Given the description of an element on the screen output the (x, y) to click on. 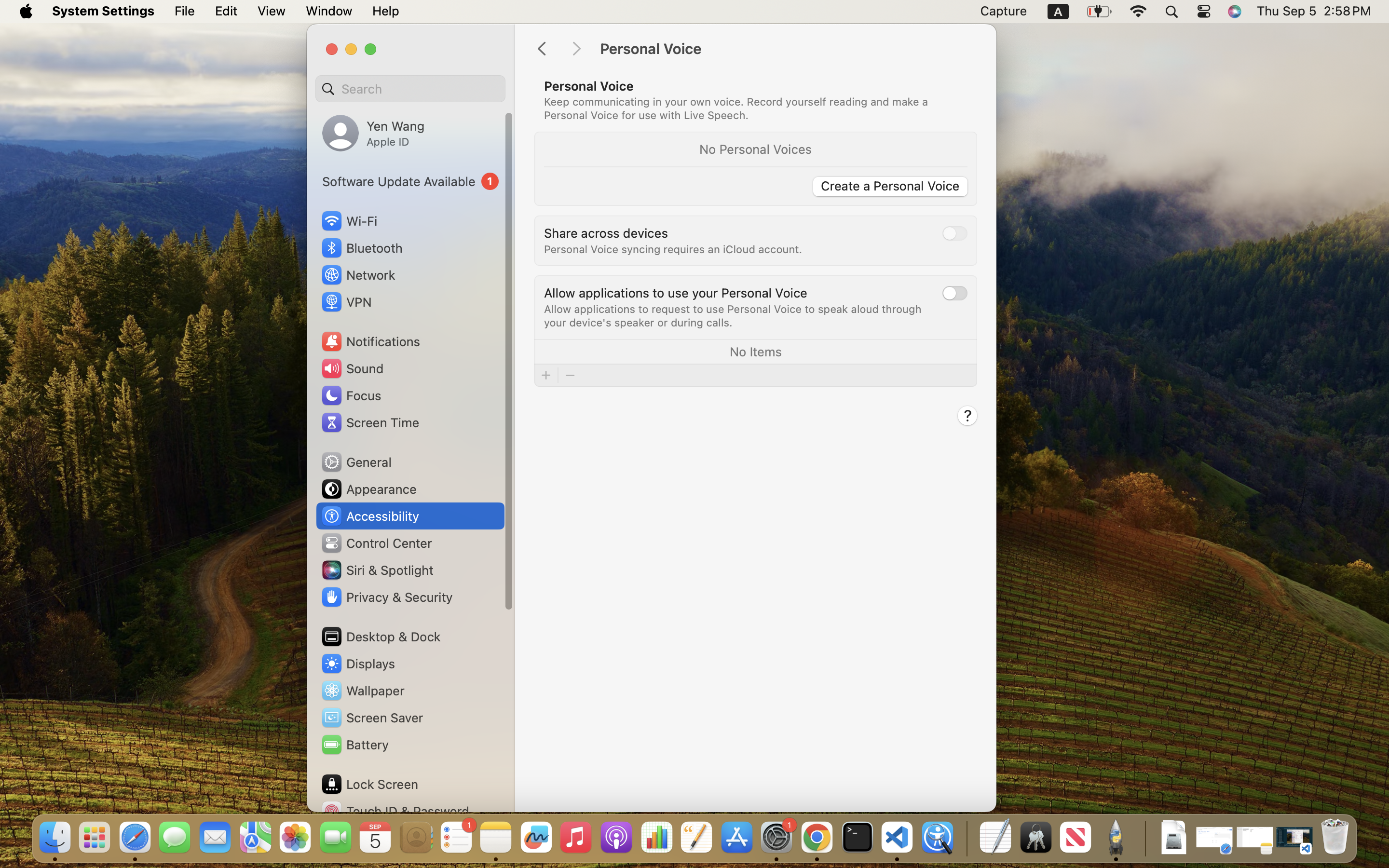
0.4285714328289032 Element type: AXDockItem (965, 837)
Desktop & Dock Element type: AXStaticText (380, 636)
Sound Element type: AXStaticText (351, 367)
Network Element type: AXStaticText (357, 274)
Allow applications to request to use Personal Voice to speak aloud through your device's speaker or during calls. Element type: AXStaticText (734, 314)
